Given the description of an element on the screen output the (x, y) to click on. 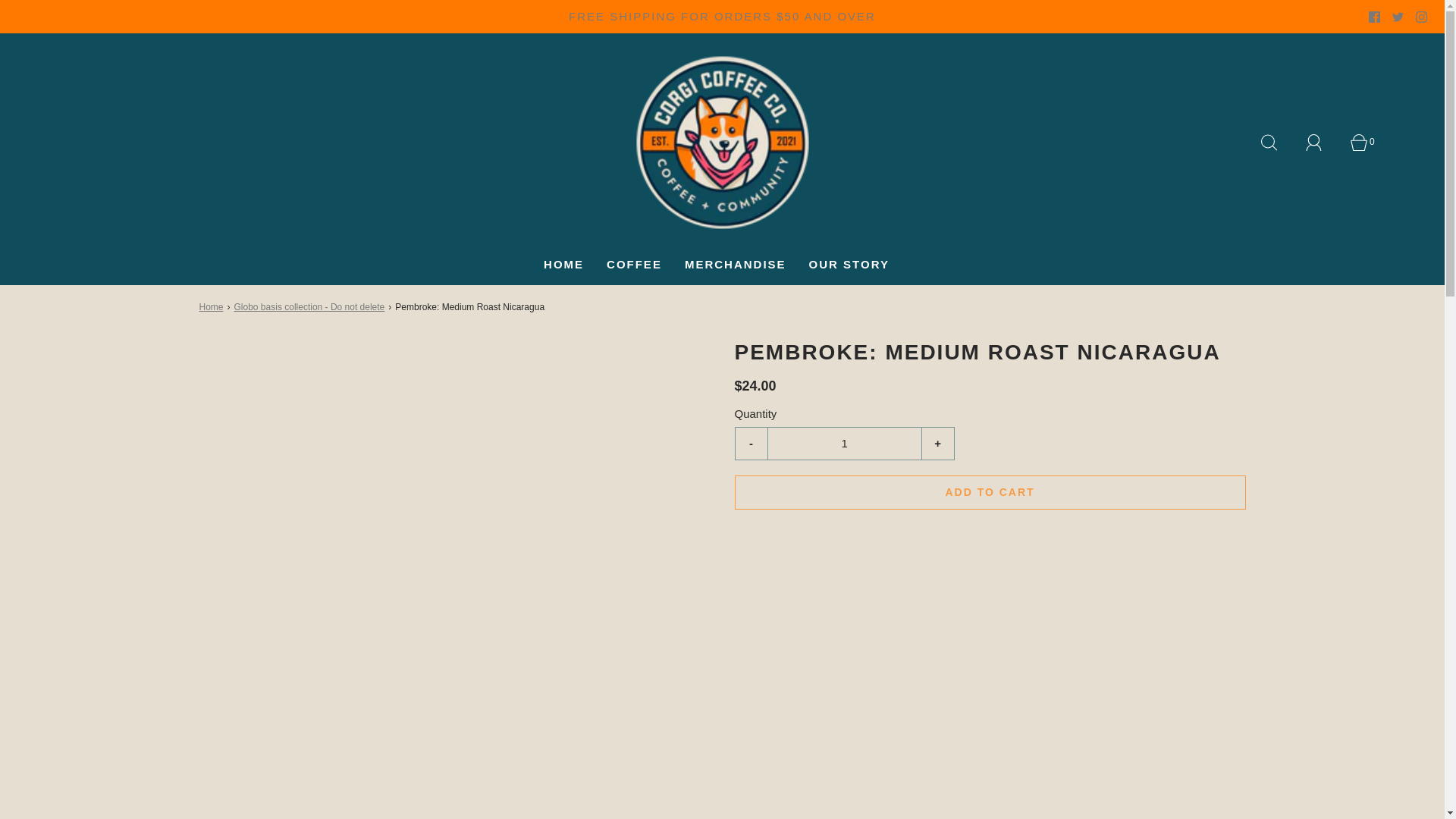
HOME (563, 264)
MERCHANDISE (735, 264)
TWITTER ICON (1397, 16)
Cart (1367, 142)
COFFEE (634, 264)
INSTAGRAM ICON (1420, 16)
1 (843, 443)
FACEBOOK ICON (1374, 16)
Log in (1322, 142)
FACEBOOK ICON (1374, 16)
0 (1367, 142)
Globo basis collection - Do not delete (311, 307)
TWITTER ICON (1397, 16)
Search (1277, 142)
INSTAGRAM ICON (1420, 16)
